Given the description of an element on the screen output the (x, y) to click on. 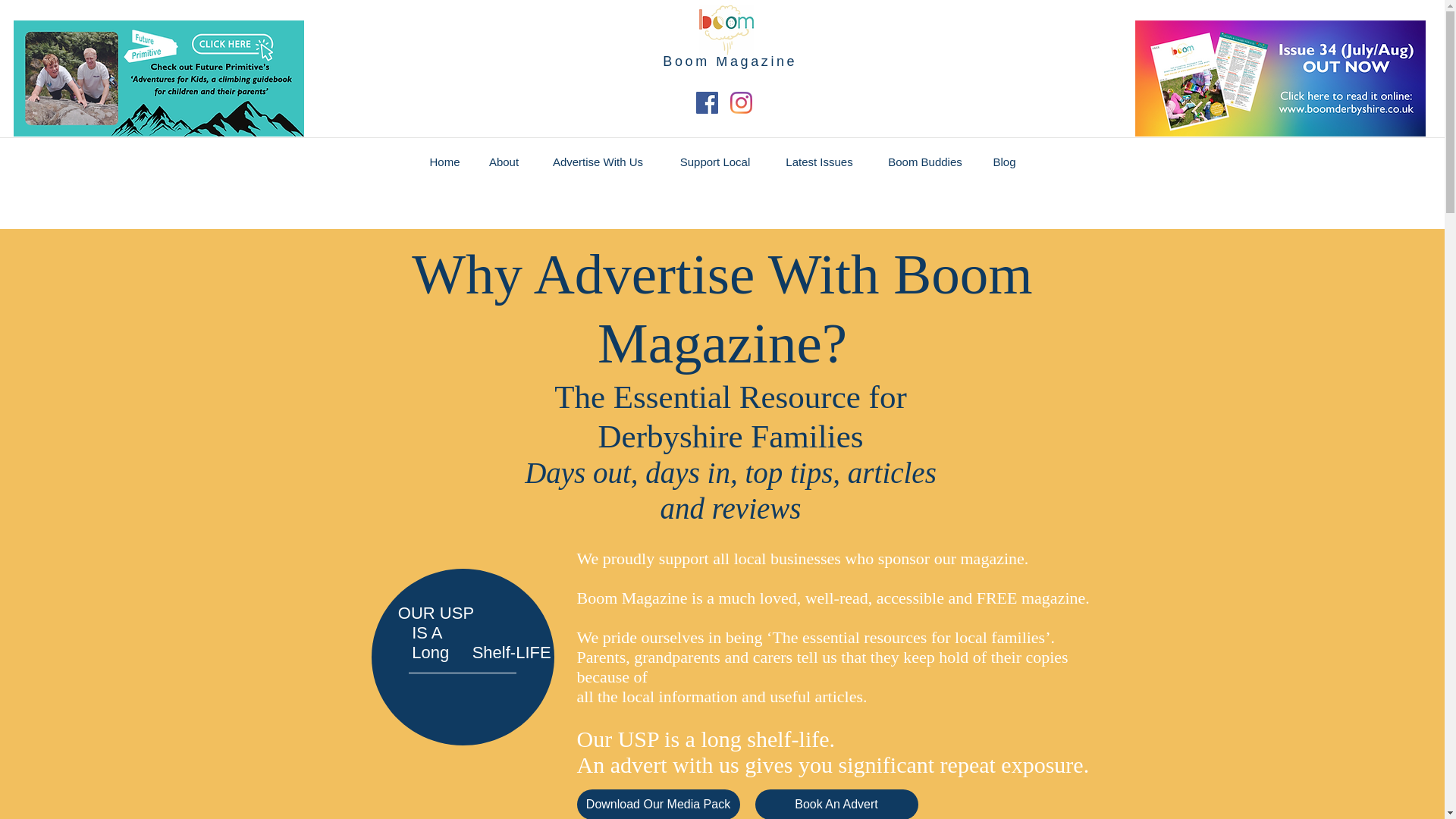
Advertise With Us (598, 161)
Support Local (715, 161)
Book An Advert (836, 804)
Latest Issues (819, 161)
Blog (1004, 161)
Download Our Media Pack (657, 804)
Boom Buddies (924, 161)
Home (444, 161)
Boom Magazine (729, 61)
About (504, 161)
